Given the description of an element on the screen output the (x, y) to click on. 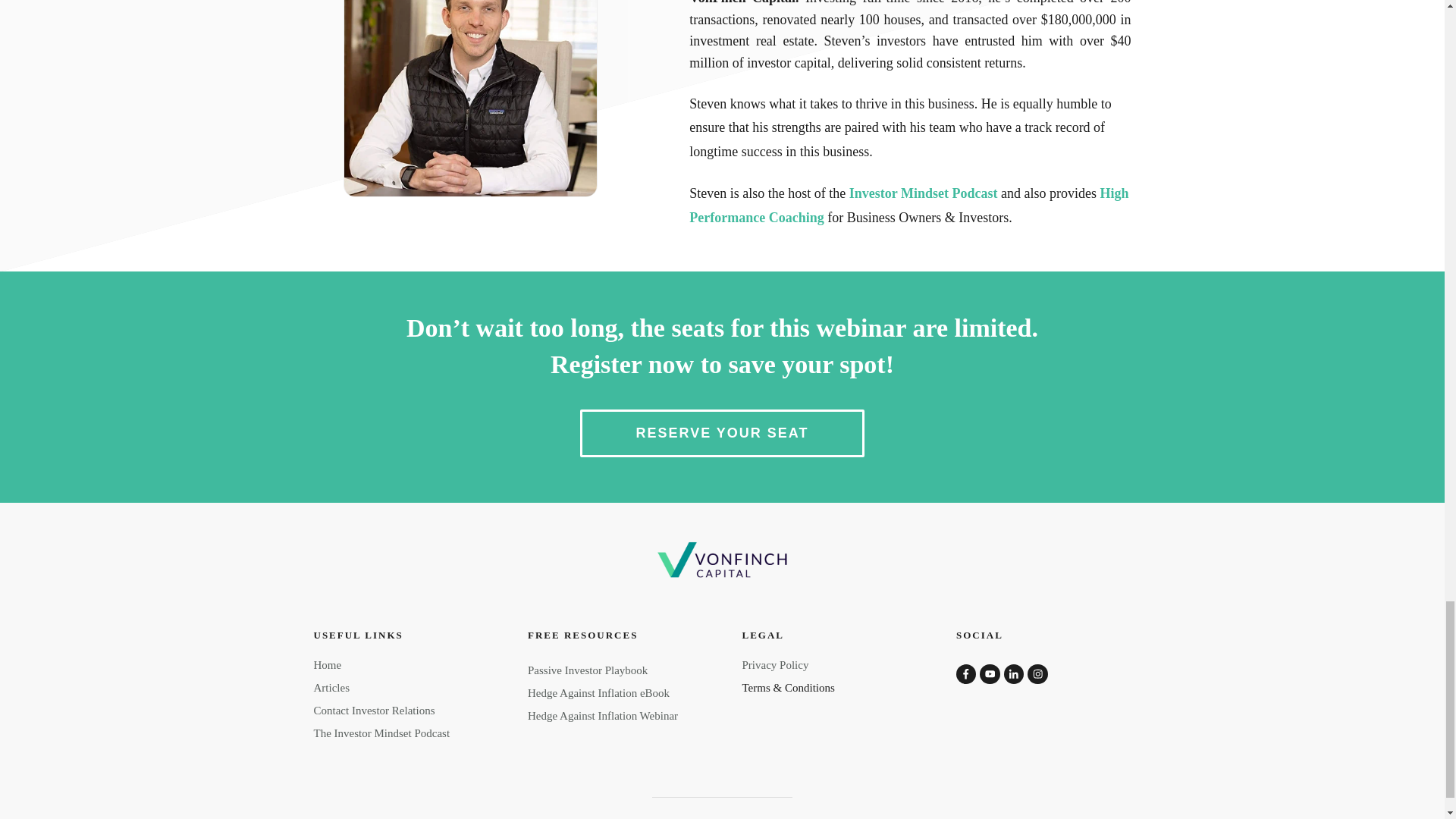
Privacy Policy (774, 664)
Home (328, 664)
RESERVE YOUR SEAT (721, 433)
High Performance Coaching (908, 205)
Hedge Against Inflation Webinar (602, 715)
Steven (469, 98)
Investor Mindset Podcast (922, 192)
Hedge Against Inflation eBook (598, 693)
The Investor Mindset Podcast (381, 733)
Articles (331, 687)
